Given the description of an element on the screen output the (x, y) to click on. 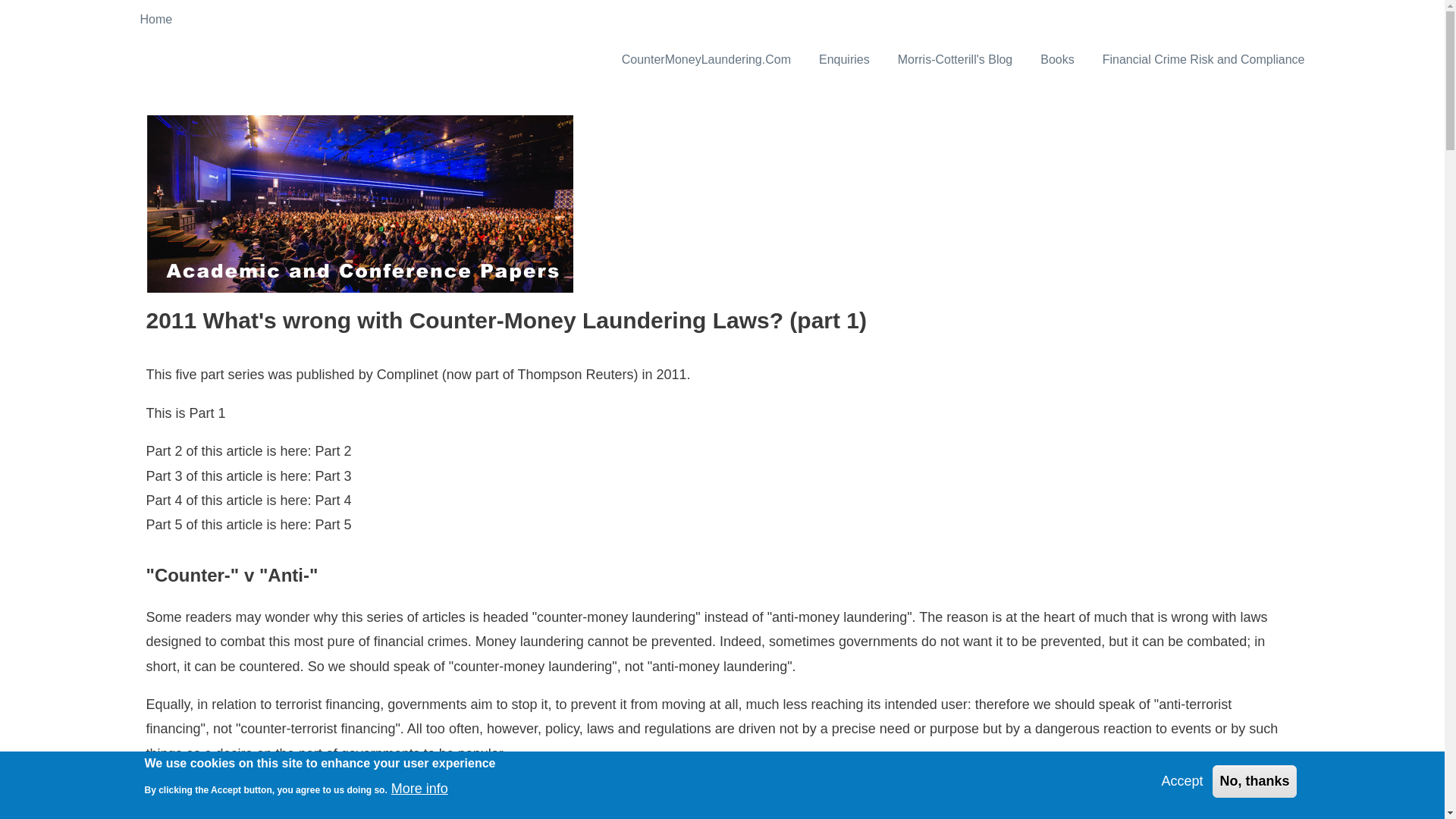
CounterMoneyLaundering.Com (706, 60)
Part 3 (333, 476)
Home (156, 20)
Accept (1181, 781)
Morris-Cotterill's Blog (955, 60)
No, thanks (1253, 780)
FInancial Crime Risk and Compliance Front (1203, 60)
CounterMoneyLaundering.Com (706, 60)
Books (1056, 60)
